Given the description of an element on the screen output the (x, y) to click on. 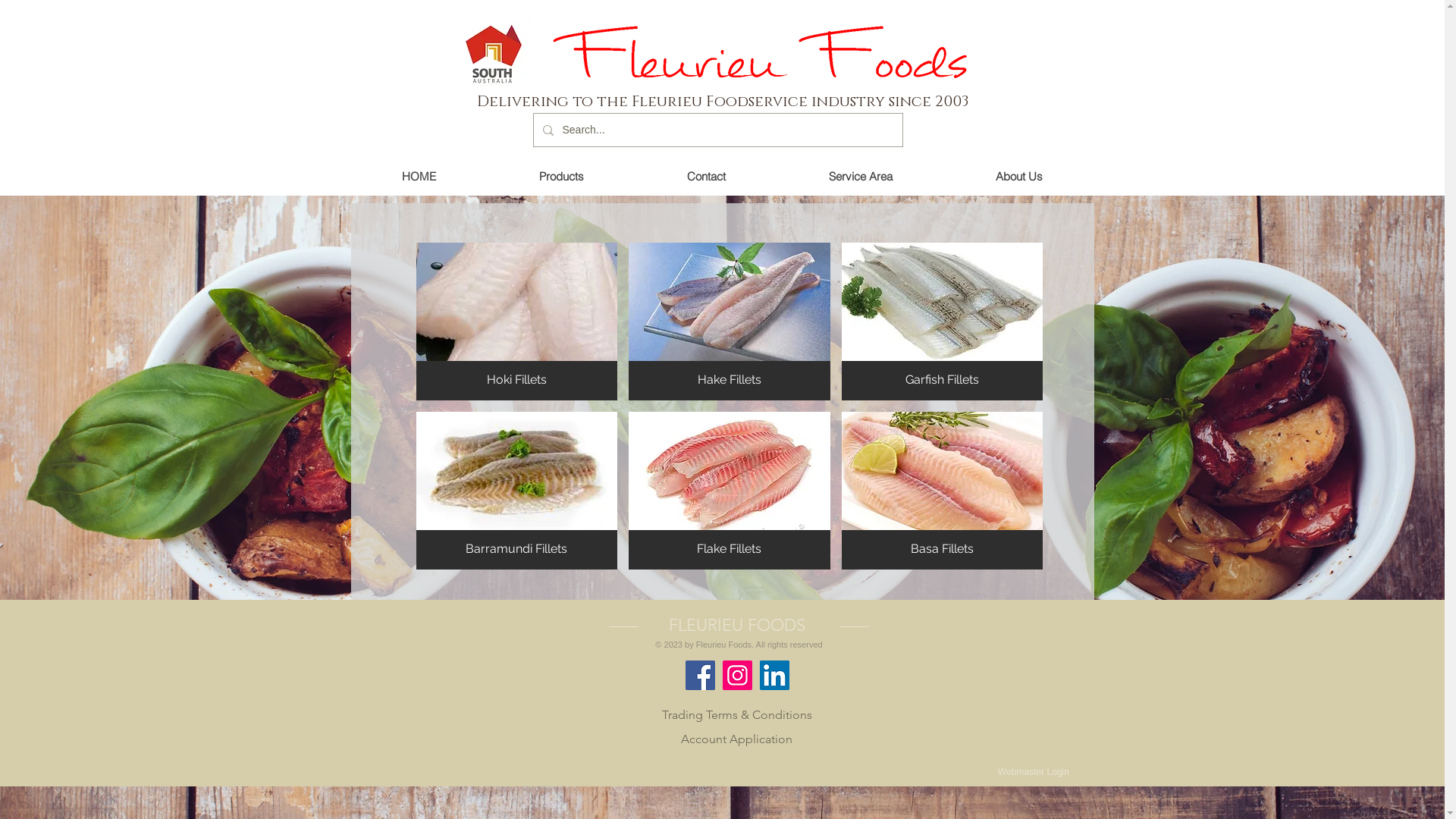
Products Element type: text (560, 176)
About Us Element type: text (1018, 176)
Trading Terms & Conditions Element type: text (736, 714)
HOME Element type: text (418, 176)
Webmaster Login Element type: text (1033, 771)
Account Application Element type: text (736, 738)
Picture4.png Element type: hover (768, 53)
Service Area Element type: text (859, 176)
Contact Element type: text (706, 176)
